Given the description of an element on the screen output the (x, y) to click on. 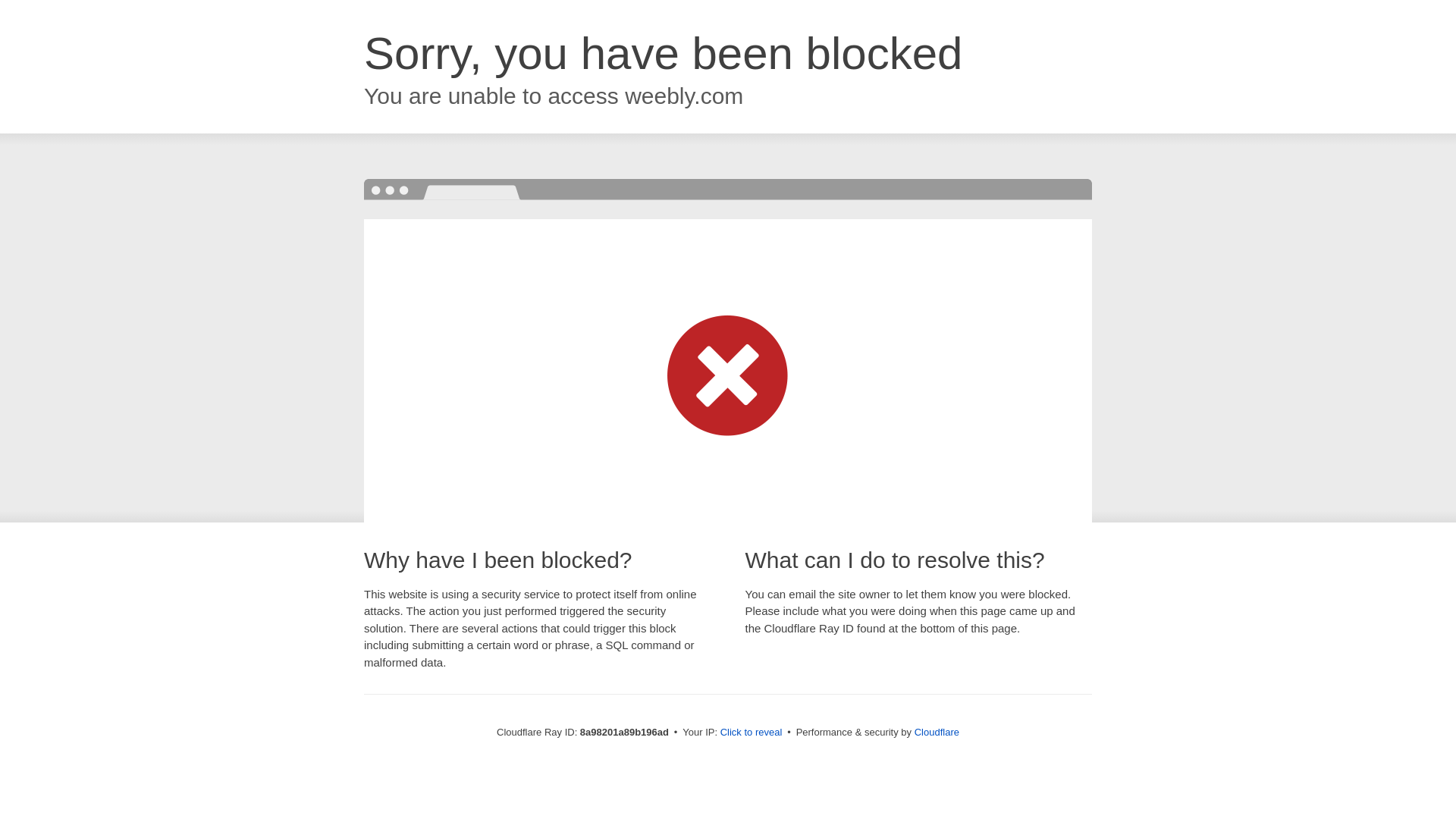
Click to reveal (751, 732)
Cloudflare (936, 731)
